Given the description of an element on the screen output the (x, y) to click on. 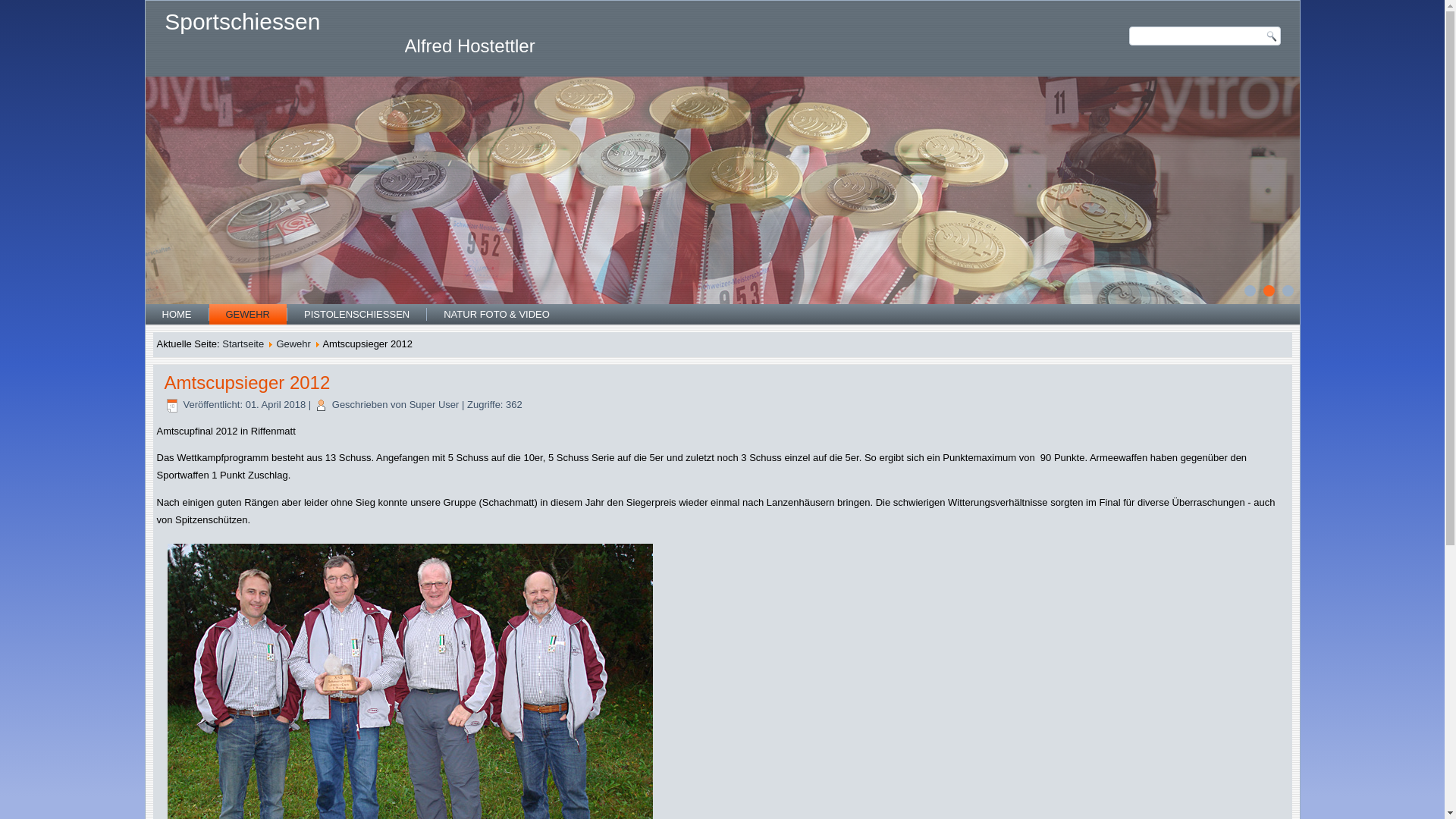
HOME Element type: text (176, 314)
Startseite Element type: text (242, 343)
PISTOLENSCHIESSEN Element type: text (356, 314)
Amtscupsieger 2012 Element type: text (246, 382)
GEWEHR Element type: text (248, 314)
NATUR FOTO & VIDEO Element type: text (496, 314)
Gewehr Element type: text (293, 343)
